Given the description of an element on the screen output the (x, y) to click on. 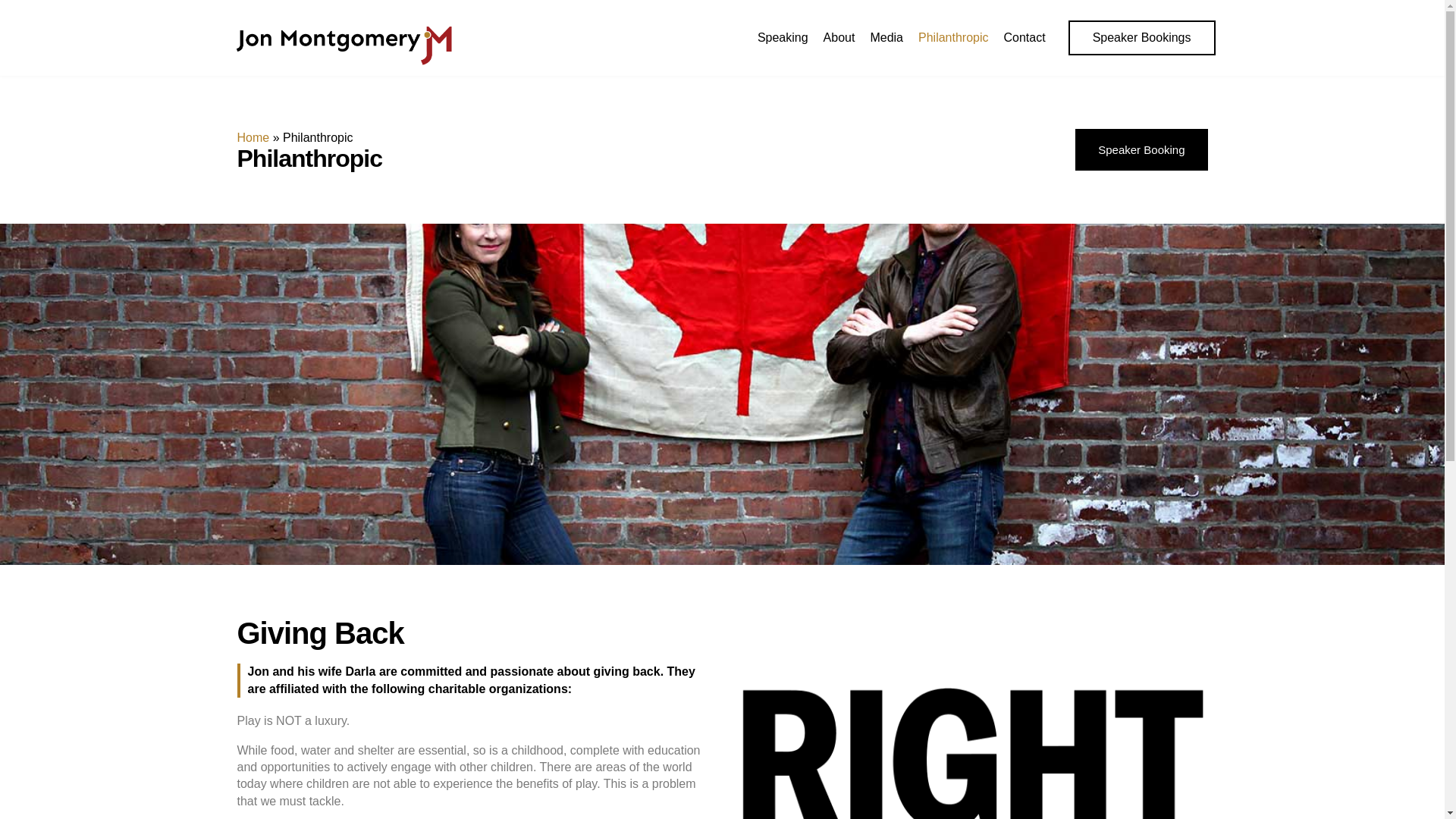
Media (886, 37)
Contact (1023, 37)
Speaker Bookings (1141, 37)
Philanthropic (953, 37)
Home (252, 145)
Speaker Booking (1141, 168)
Speaking (782, 37)
About (839, 37)
